Given the description of an element on the screen output the (x, y) to click on. 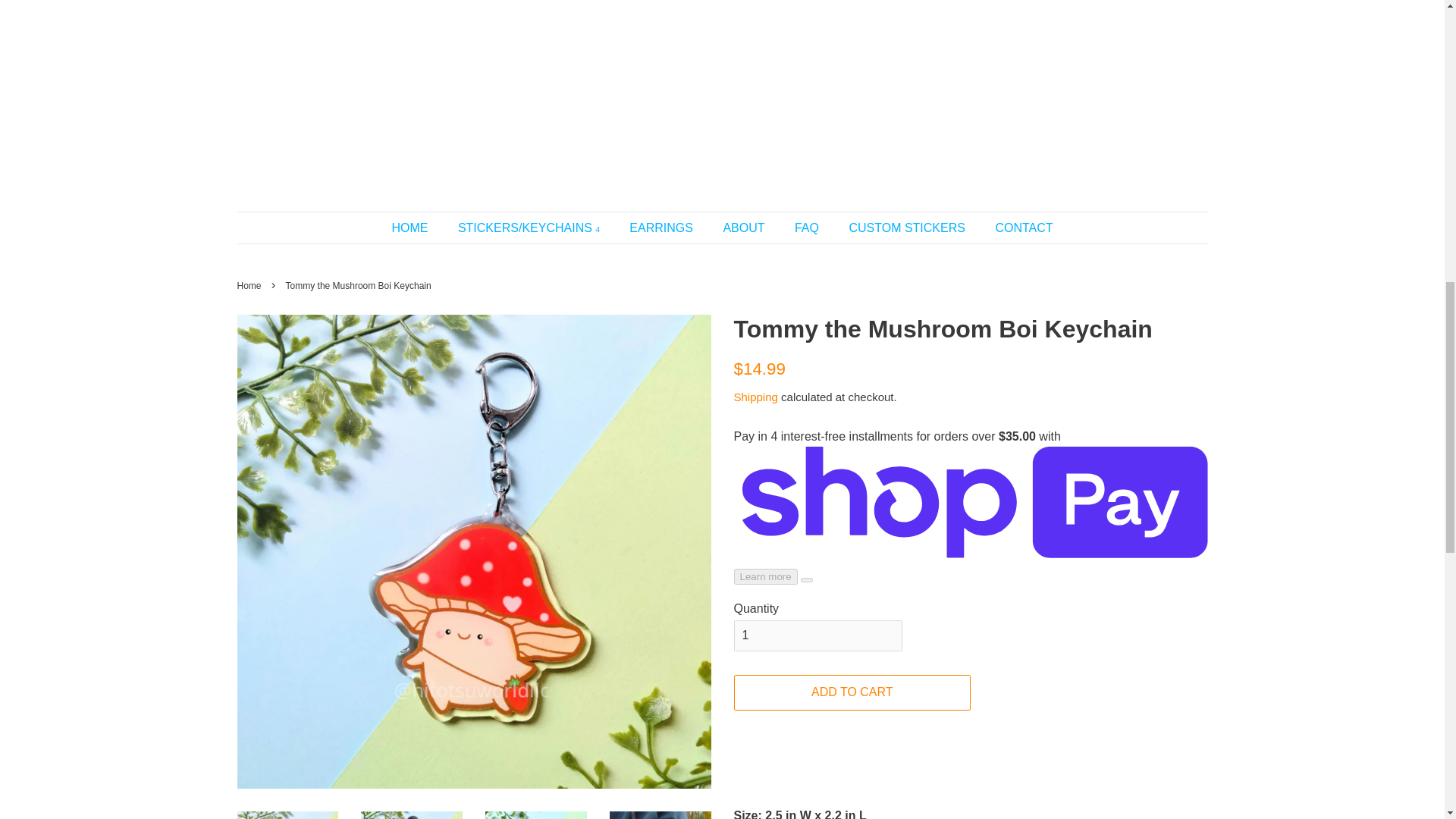
EARRINGS (662, 227)
Back to the frontpage (249, 285)
HOME (416, 227)
ABOUT (744, 227)
1 (817, 635)
